Given the description of an element on the screen output the (x, y) to click on. 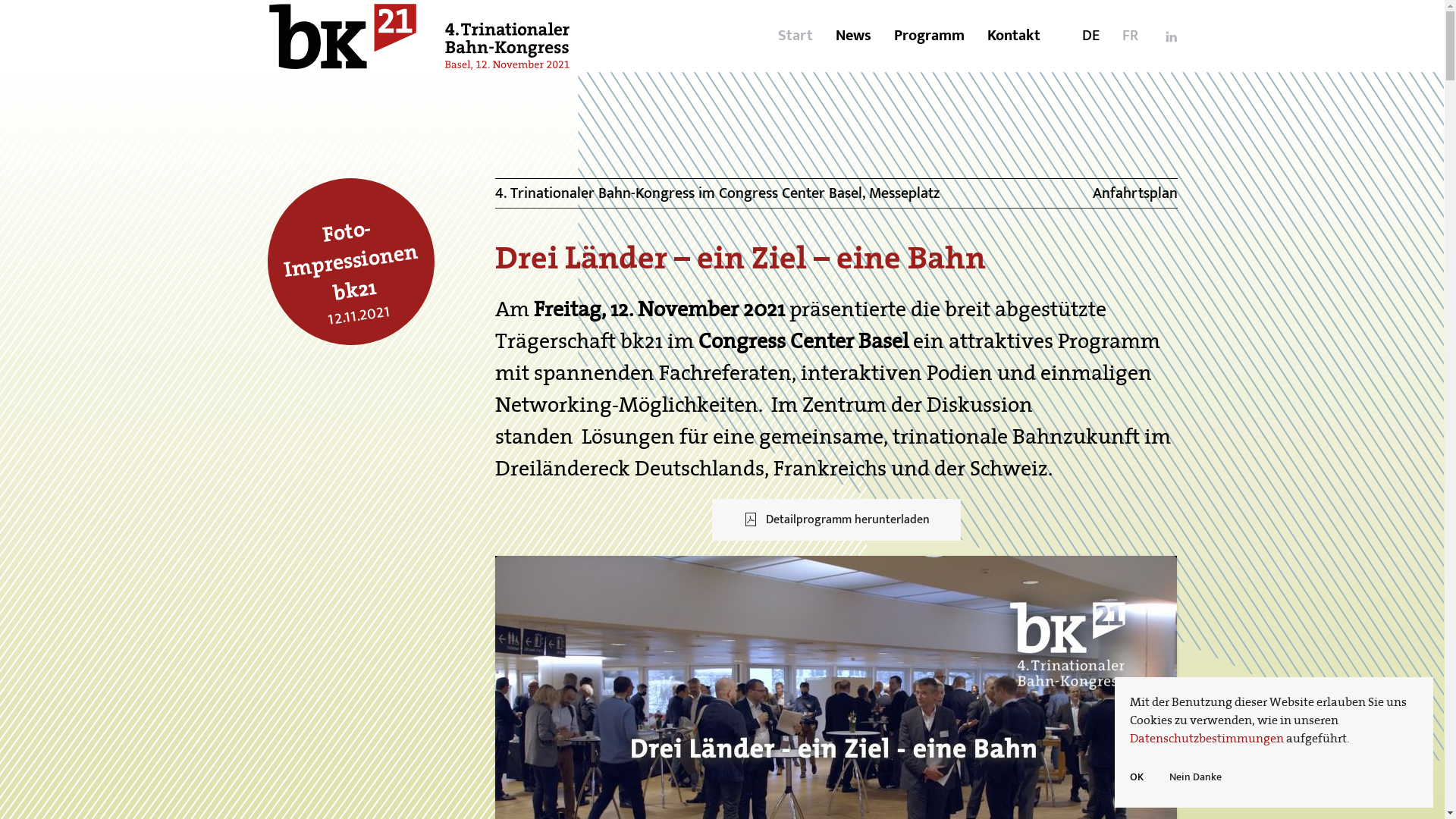
Foto-Impressionen bk21 Element type: text (348, 257)
DE Element type: text (1089, 35)
Programm Element type: text (928, 36)
Start Element type: text (795, 36)
OK Element type: text (1136, 777)
Detailprogramm herunterladen Element type: text (836, 519)
FR Element type: text (1130, 35)
12.11.2021 Element type: text (356, 311)
Anfahrtsplan Element type: text (1134, 192)
Nein Danke Element type: text (1195, 777)
Kontakt Element type: text (1013, 36)
Datenschutzbestimmungen Element type: text (1206, 737)
News Element type: text (853, 36)
